Given the description of an element on the screen output the (x, y) to click on. 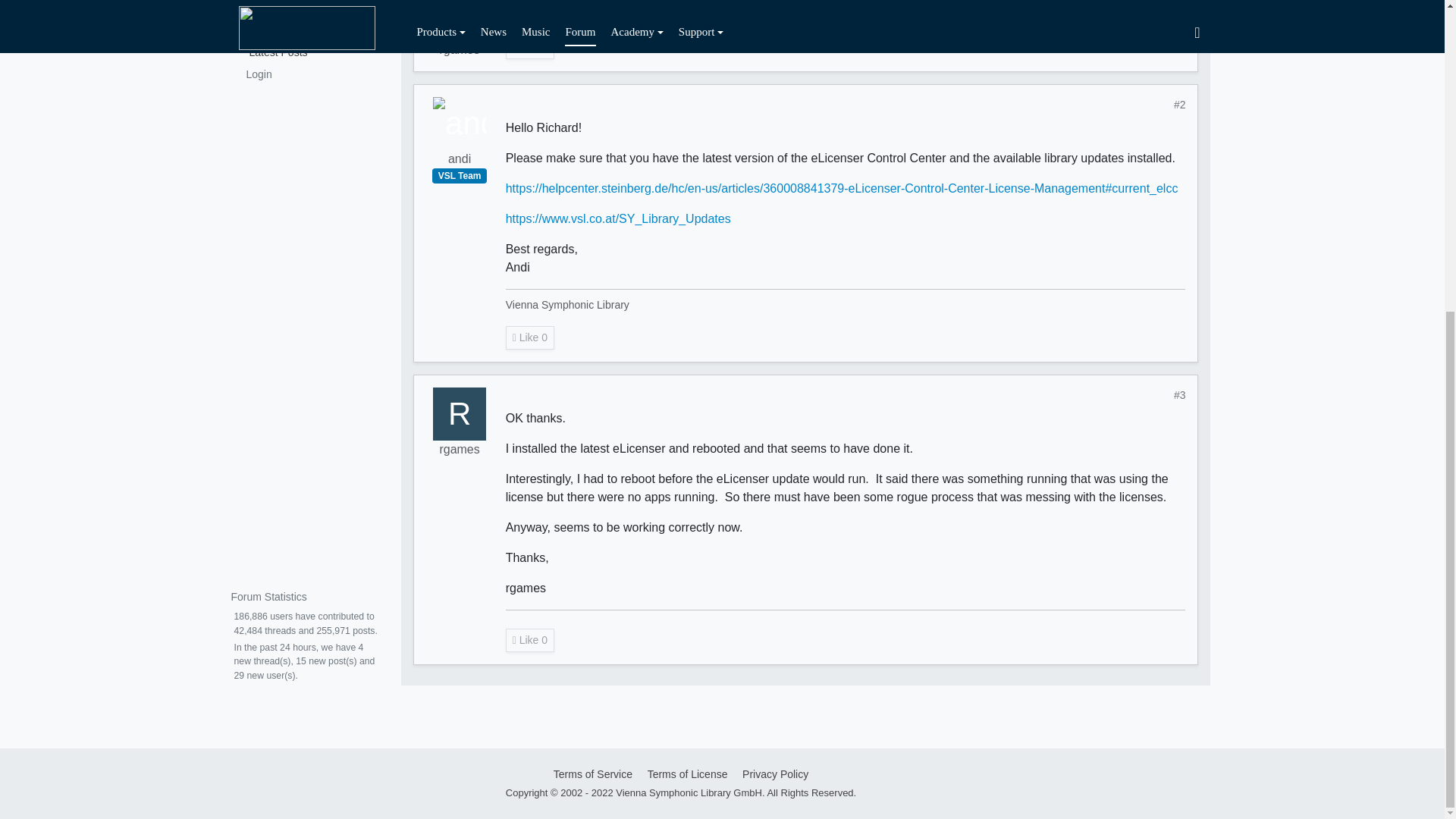
andi (459, 158)
andi (459, 123)
